Given the description of an element on the screen output the (x, y) to click on. 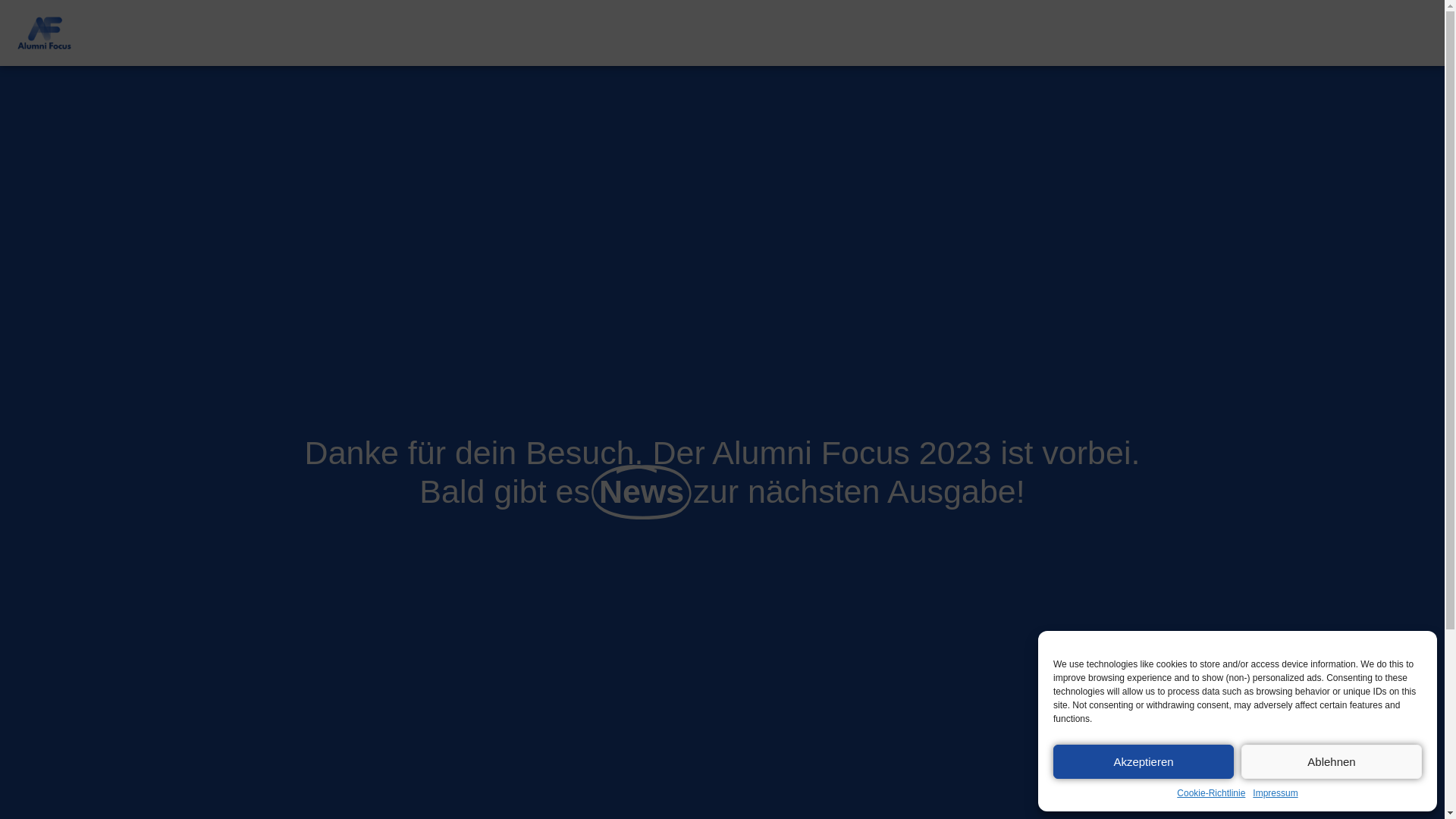
Ablehnen Element type: text (1331, 761)
Impressum Element type: text (1274, 793)
Cookie-Richtlinie Element type: text (1210, 793)
Akzeptieren Element type: text (1143, 761)
